Given the description of an element on the screen output the (x, y) to click on. 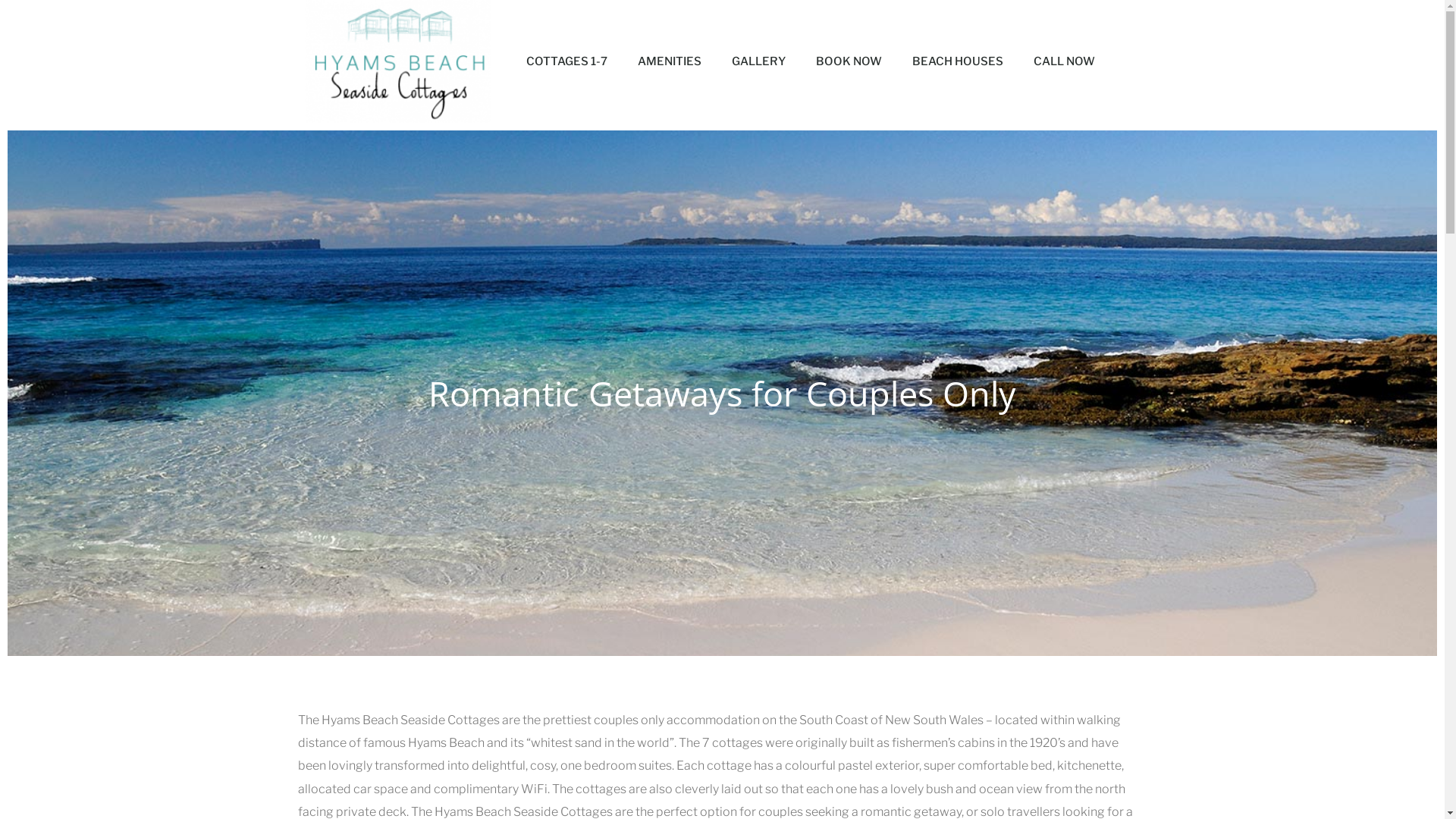
BEACH HOUSES Element type: text (957, 61)
GALLERY Element type: text (758, 61)
COTTAGES 1-7 Element type: text (566, 61)
AMENITIES Element type: text (669, 61)
CALL NOW Element type: text (1064, 61)
BOOK NOW Element type: text (848, 61)
